Given the description of an element on the screen output the (x, y) to click on. 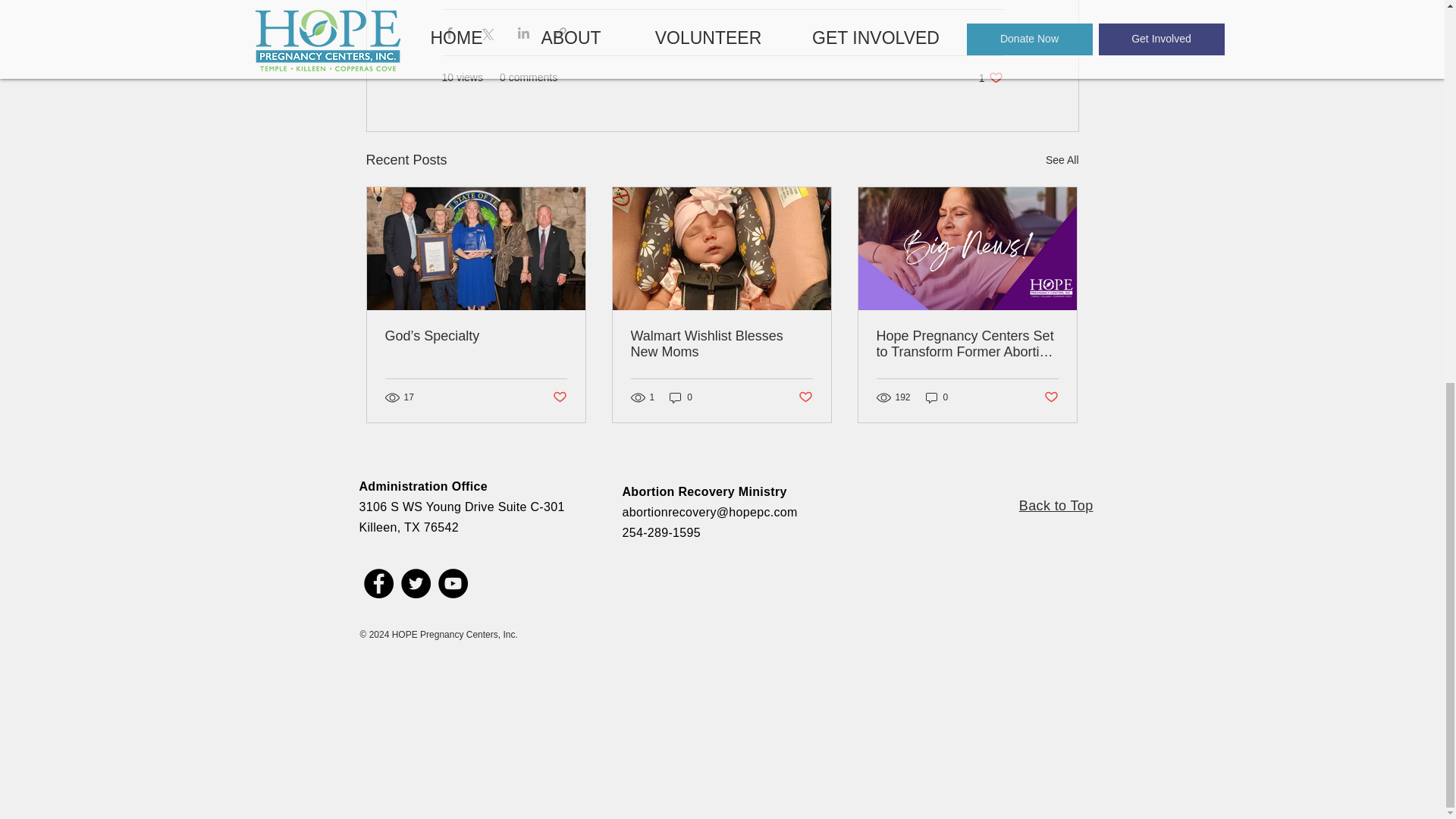
Back to Top (990, 77)
Post not marked as liked (1056, 505)
See All (1050, 396)
Post not marked as liked (1061, 160)
0 (804, 396)
Post not marked as liked (937, 397)
Walmart Wishlist Blesses New Moms (558, 396)
0 (721, 344)
